Given the description of an element on the screen output the (x, y) to click on. 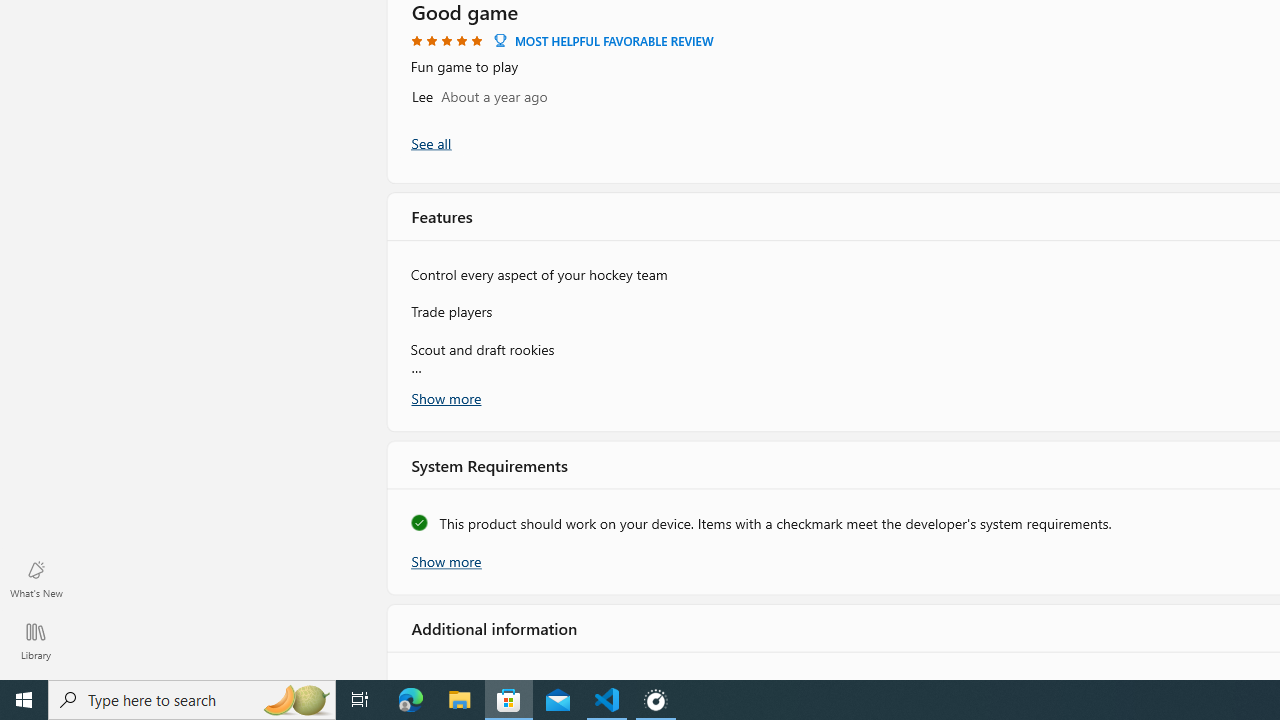
Show all ratings and reviews (430, 141)
Library (35, 640)
Show more (445, 559)
What's New (35, 578)
